Given the description of an element on the screen output the (x, y) to click on. 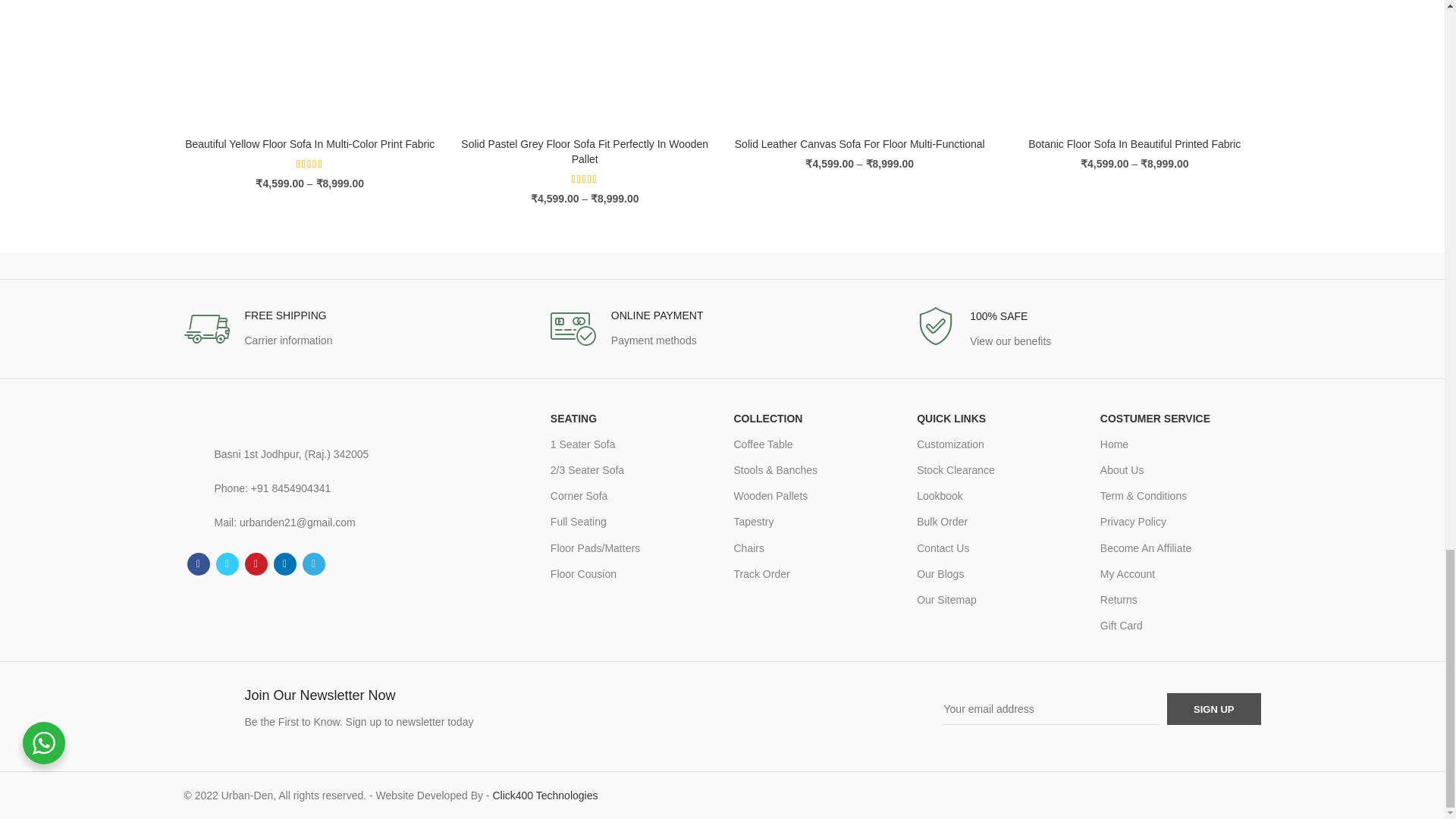
Sign up (1213, 708)
